Given the description of an element on the screen output the (x, y) to click on. 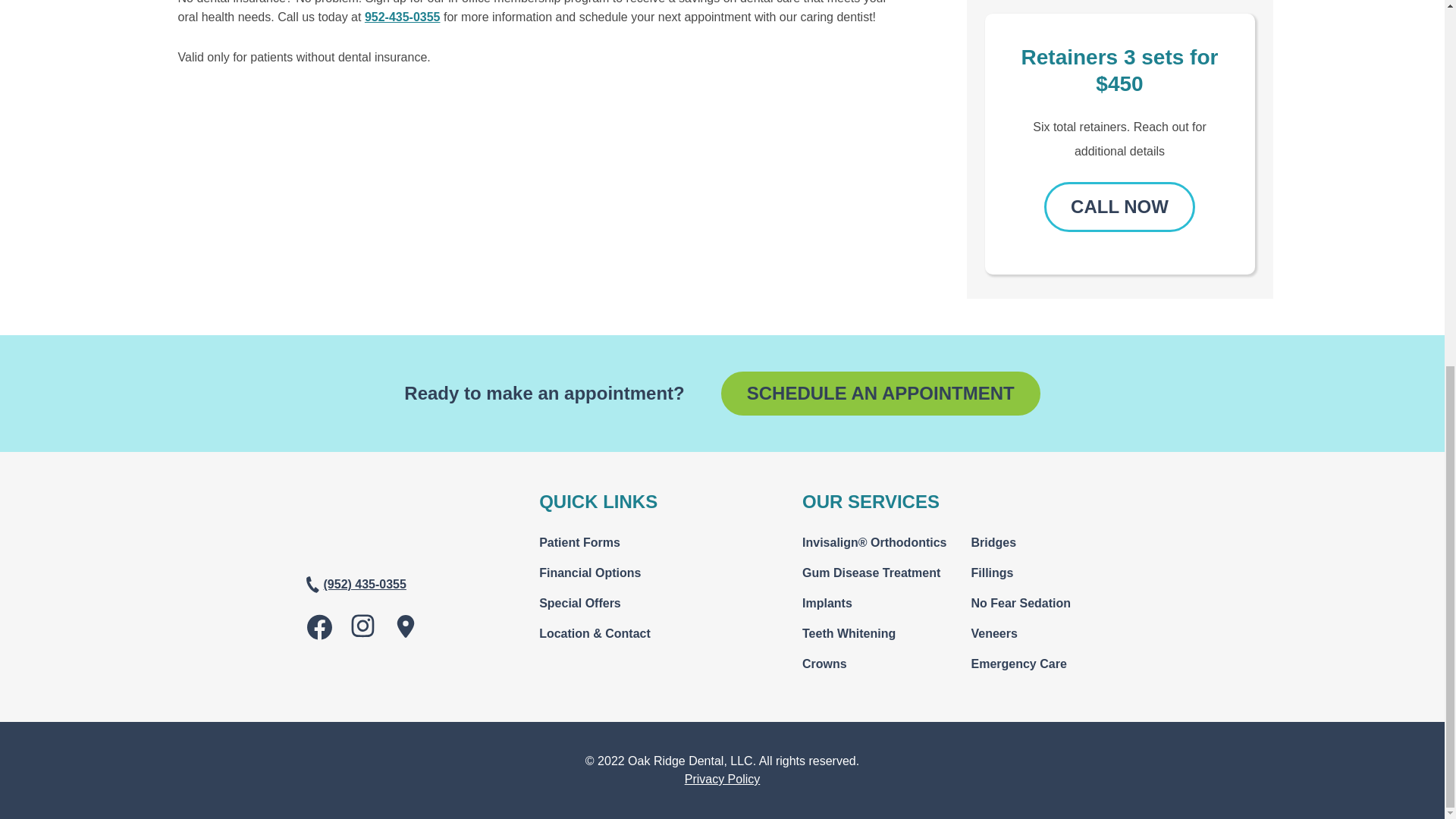
Facebook Icon (318, 626)
Instagram Icon (362, 626)
Oak Ridge Dental Logo (357, 551)
